Given the description of an element on the screen output the (x, y) to click on. 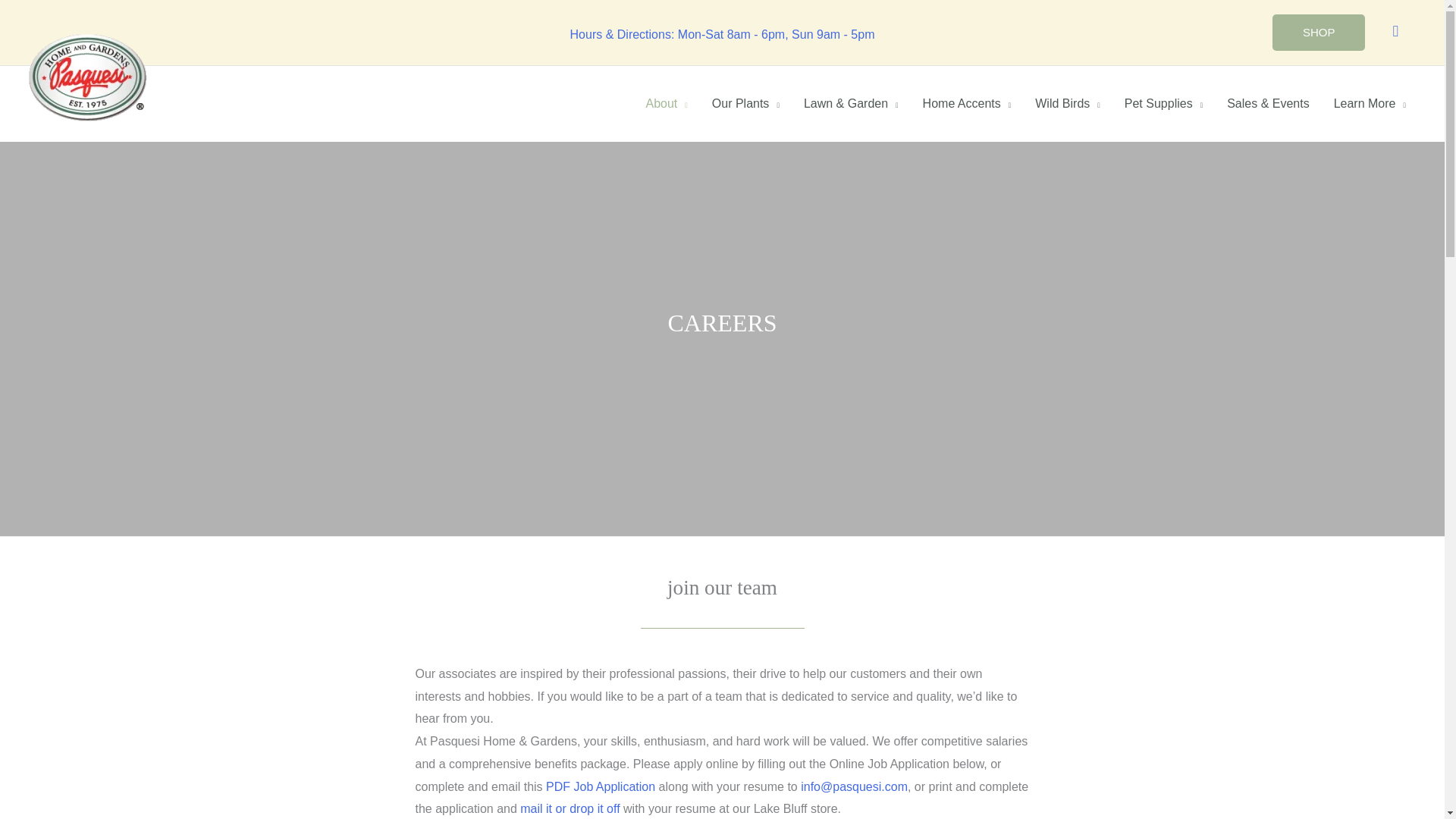
About (665, 103)
SHOP (1318, 32)
Our Plants (746, 103)
